Given the description of an element on the screen output the (x, y) to click on. 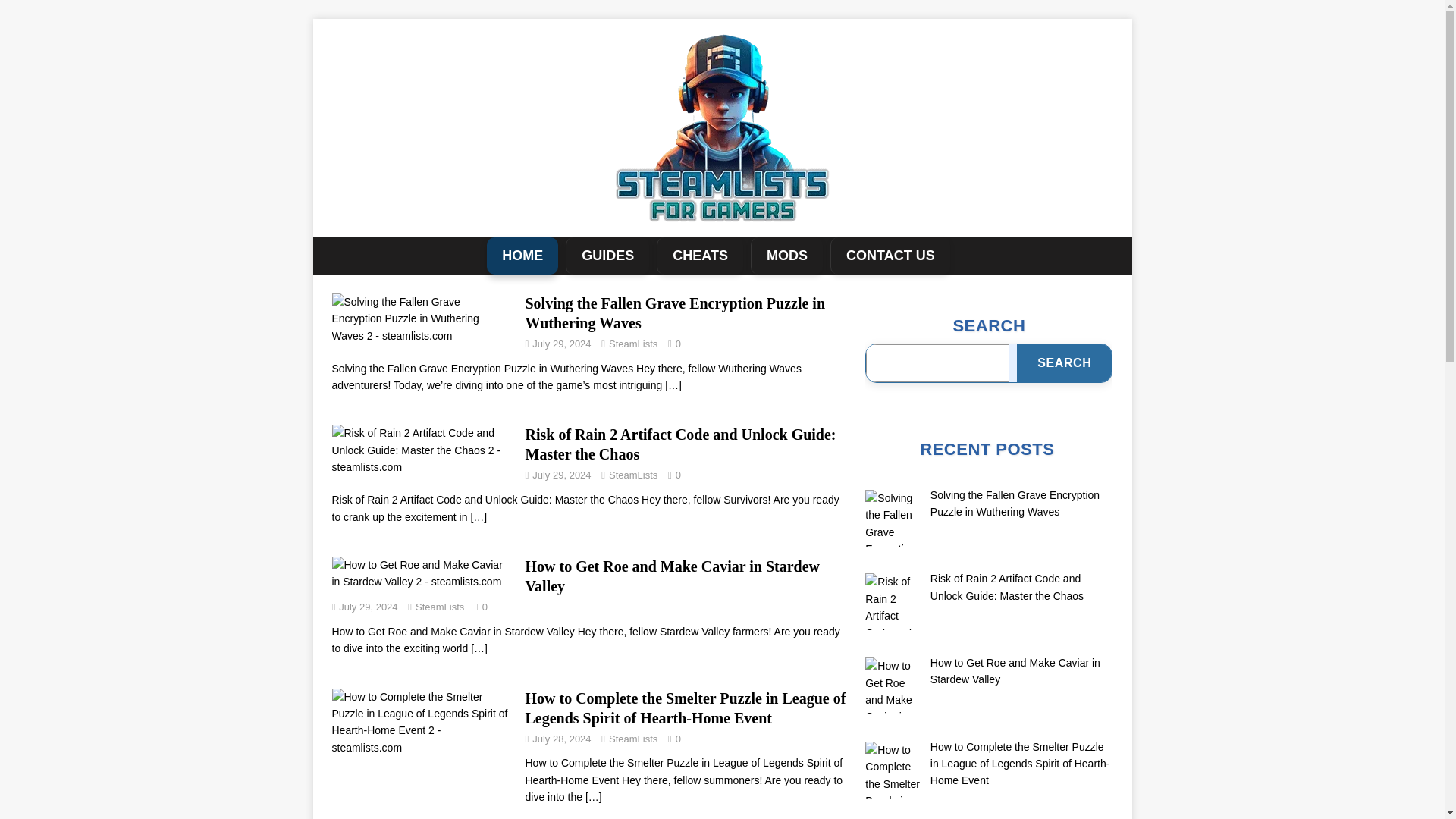
CONTACT US (889, 255)
GUIDES (607, 255)
HOME (521, 255)
SteamLists (633, 738)
CHEATS (699, 255)
